Given the description of an element on the screen output the (x, y) to click on. 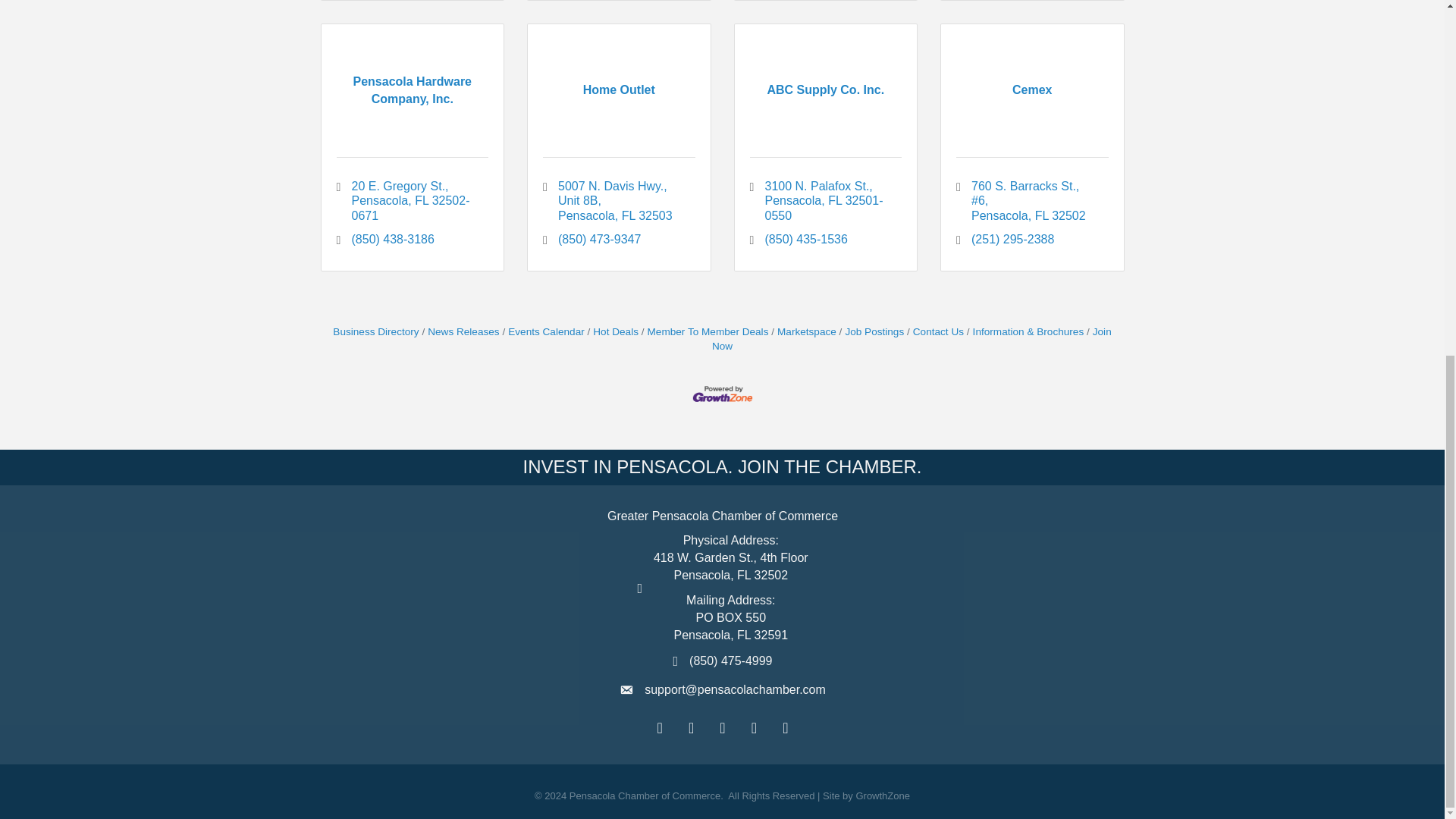
Invest in Pensacola.  Join the Chamber. (721, 466)
